Given the description of an element on the screen output the (x, y) to click on. 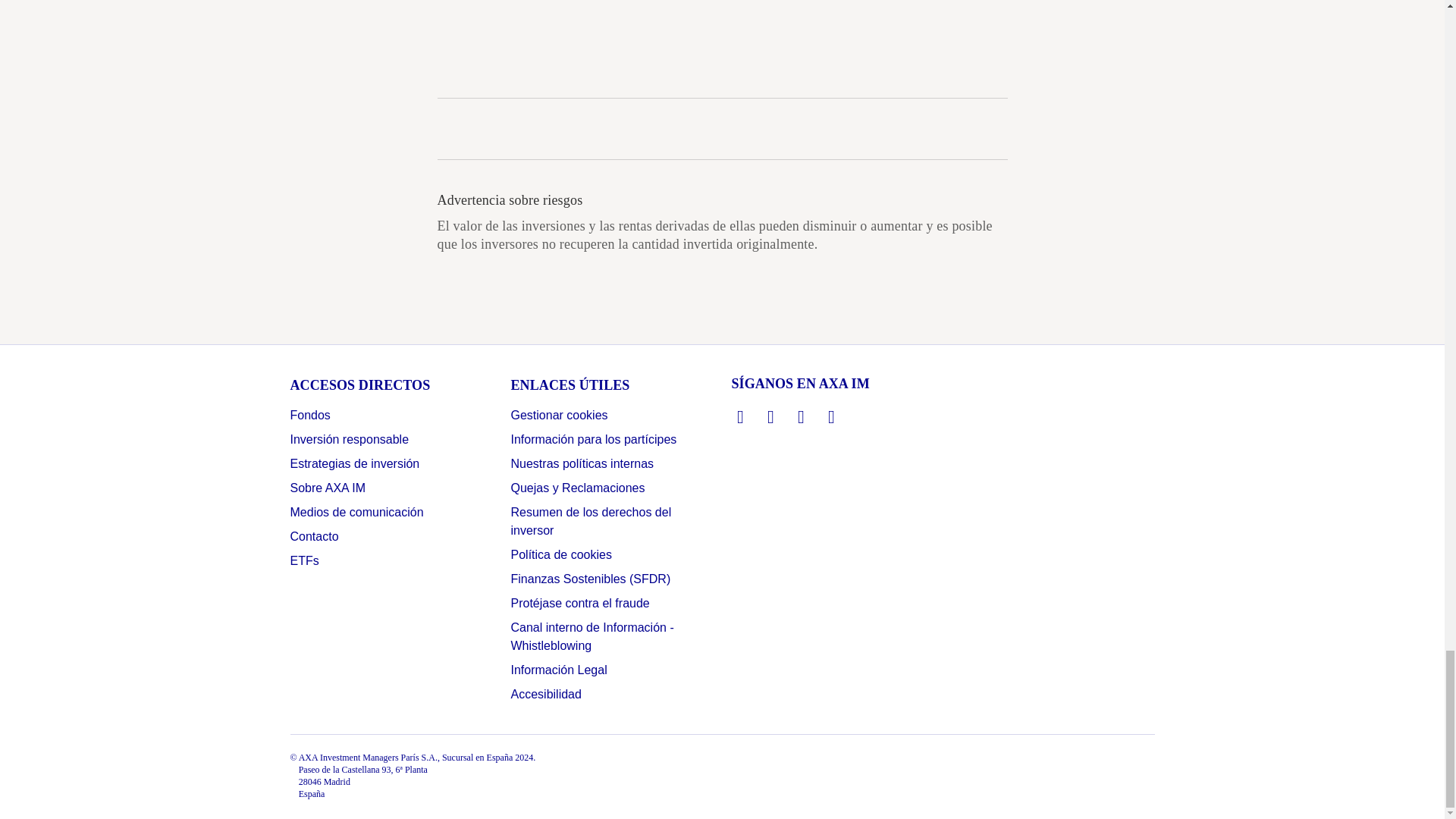
Follow us on LinkedIn (739, 416)
Follow us on Facebook (800, 416)
Follow us on X (769, 416)
Follow us on Youtube (831, 416)
